Given the description of an element on the screen output the (x, y) to click on. 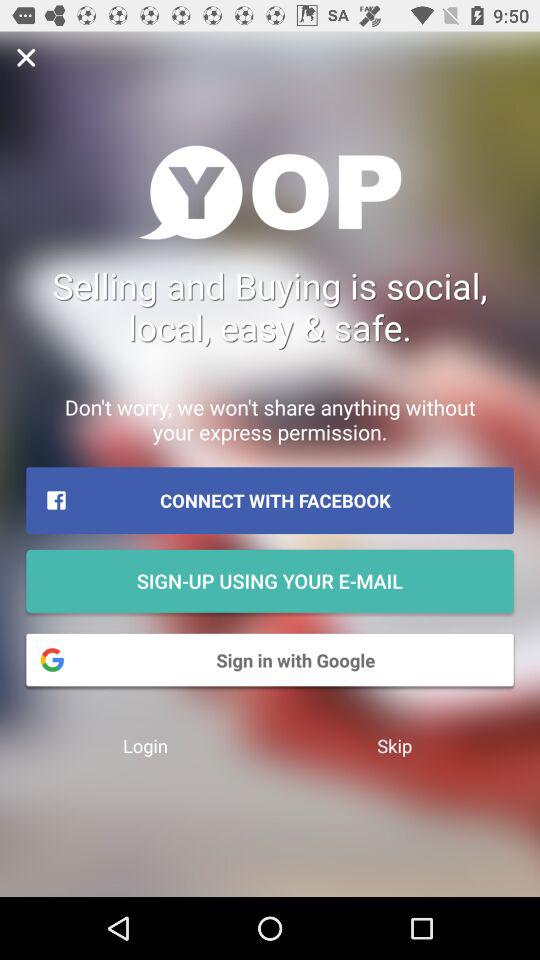
close button (26, 57)
